Given the description of an element on the screen output the (x, y) to click on. 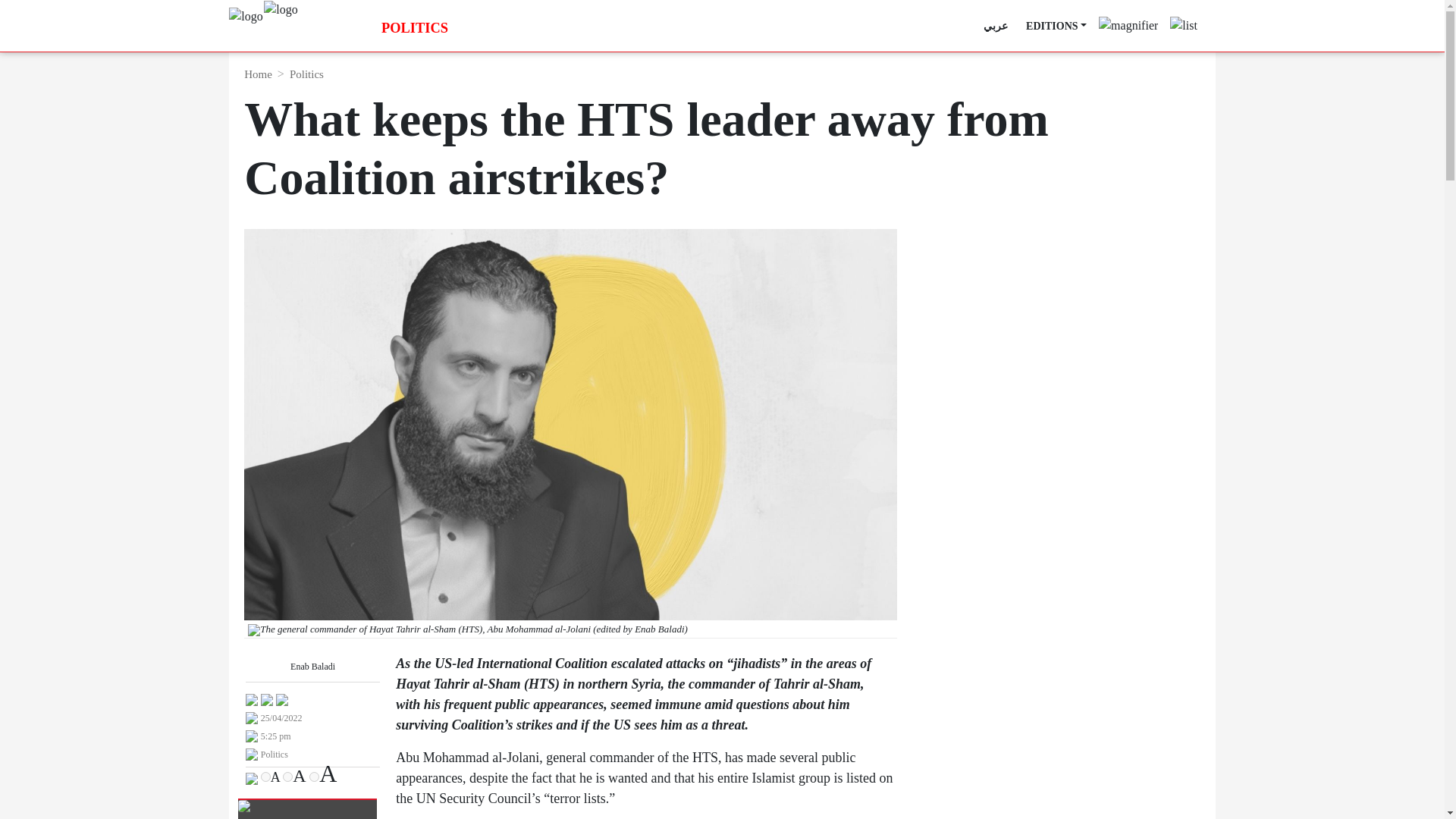
on (265, 777)
EDITIONS (1056, 25)
logo (245, 16)
logo (280, 9)
list (1183, 20)
POLITICS (414, 28)
magnifier (1128, 20)
on (287, 777)
on (313, 777)
